Given the description of an element on the screen output the (x, y) to click on. 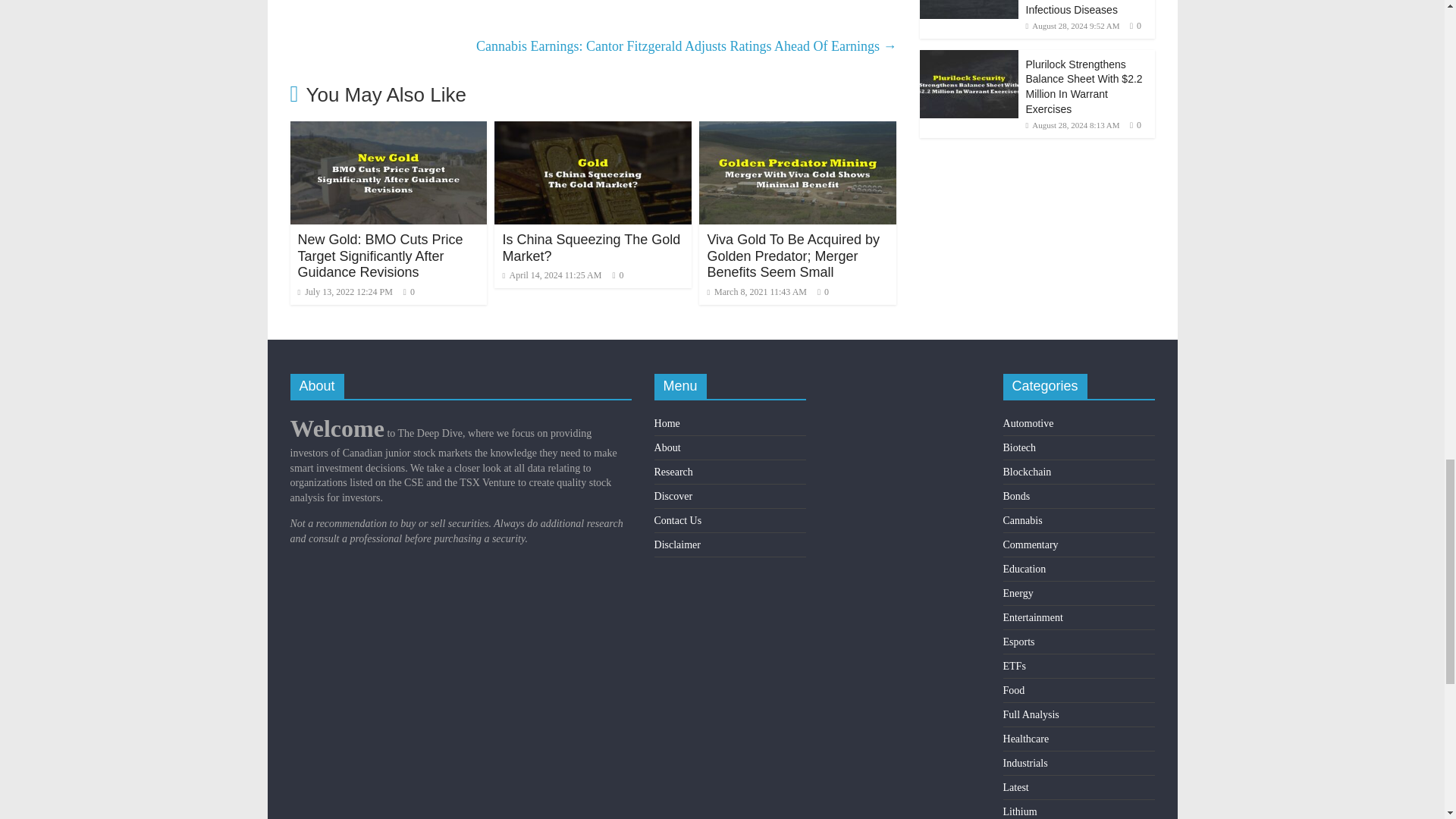
12:24 pm (344, 291)
